Given the description of an element on the screen output the (x, y) to click on. 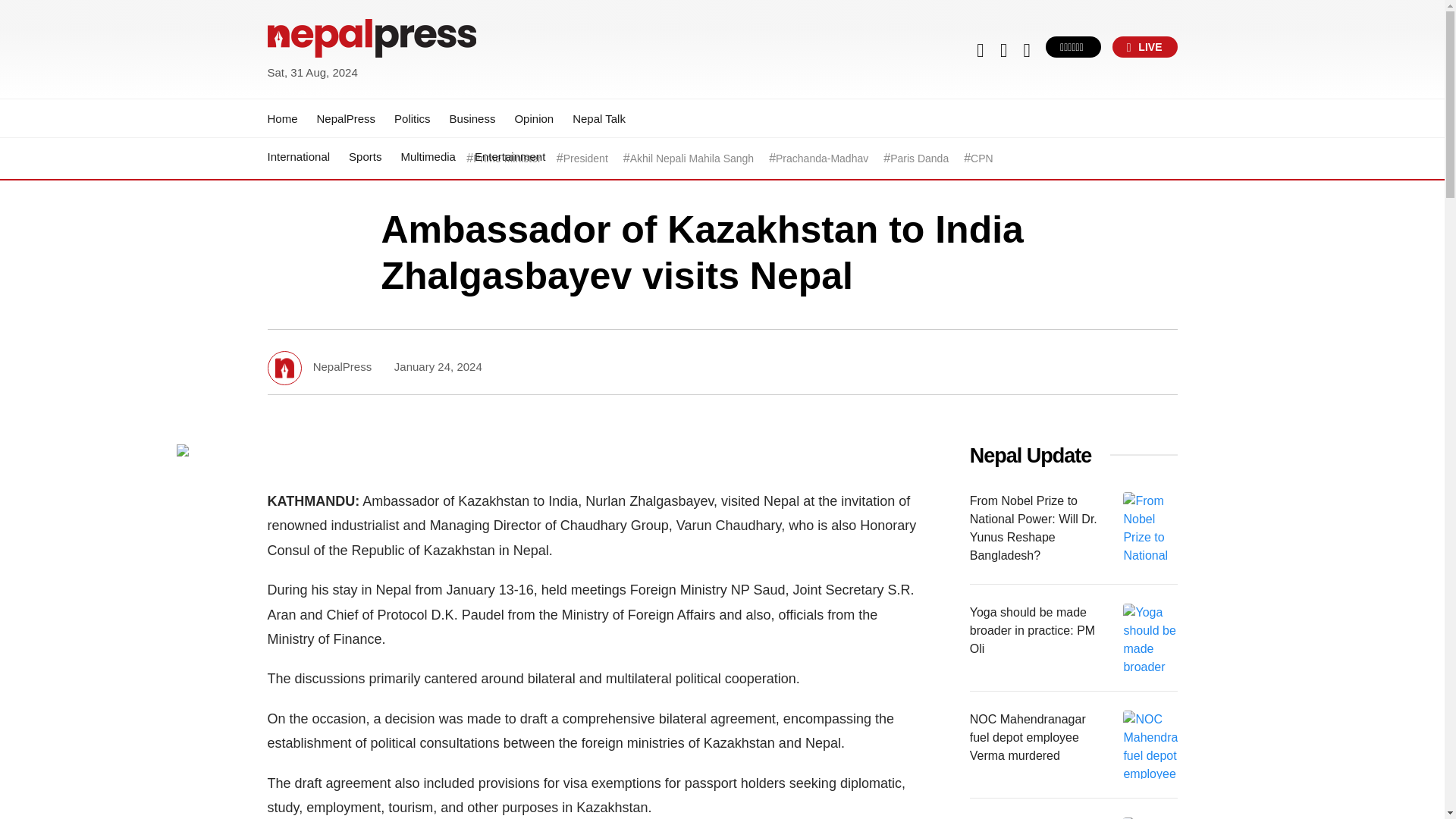
Akhil Nepali Mahila Sangh (692, 158)
Prime Minister (506, 158)
Paris Danda (919, 158)
Multimedia (427, 156)
Prachanda-Madhav (821, 158)
Akhil Nepali Mahila Sangh (692, 158)
Nepal Talk (599, 118)
CPN (981, 158)
Politics (412, 118)
SEARCH (1108, 64)
